Given the description of an element on the screen output the (x, y) to click on. 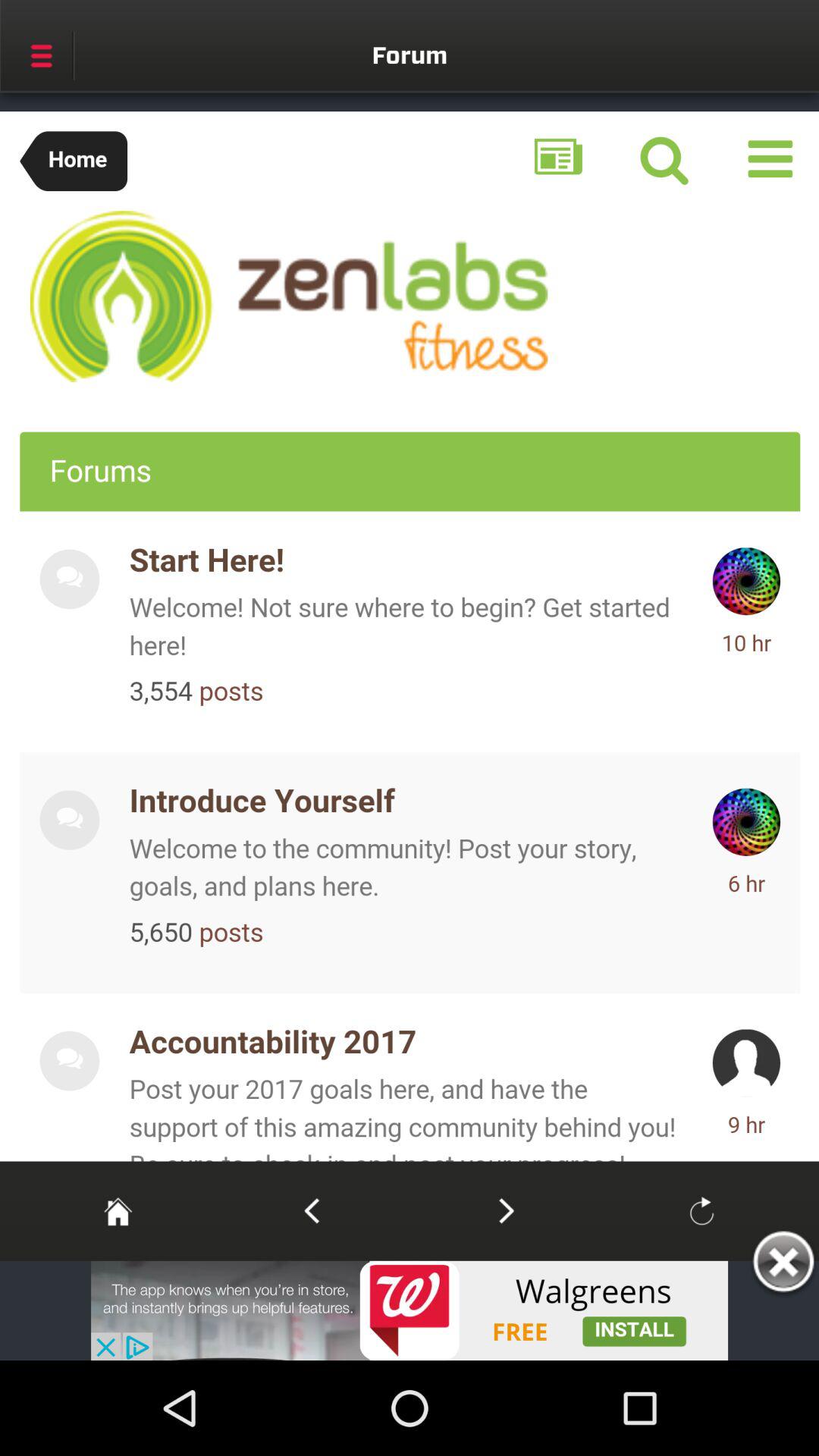
refresh (701, 1210)
